Given the description of an element on the screen output the (x, y) to click on. 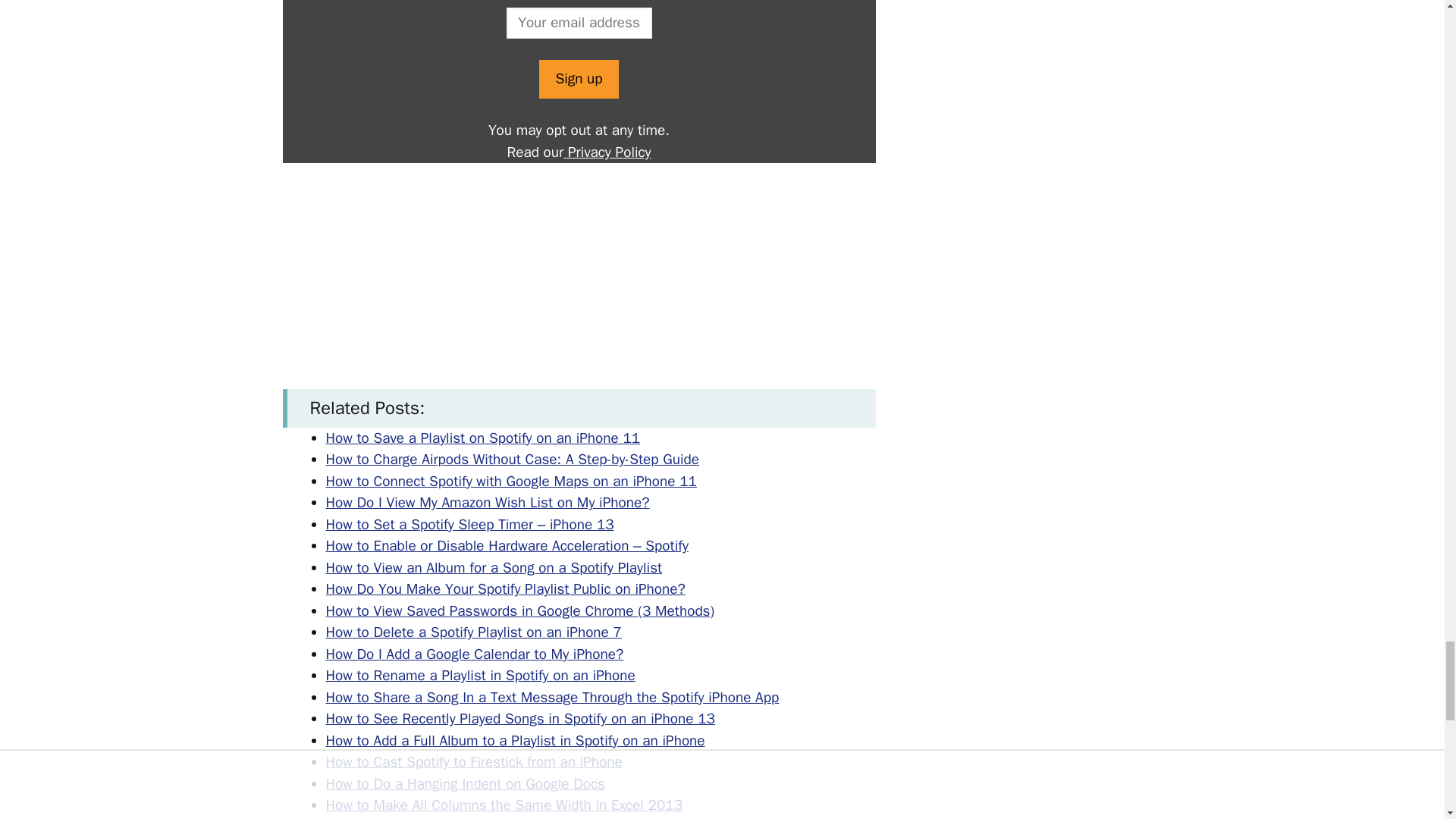
Sign up (577, 78)
